Given the description of an element on the screen output the (x, y) to click on. 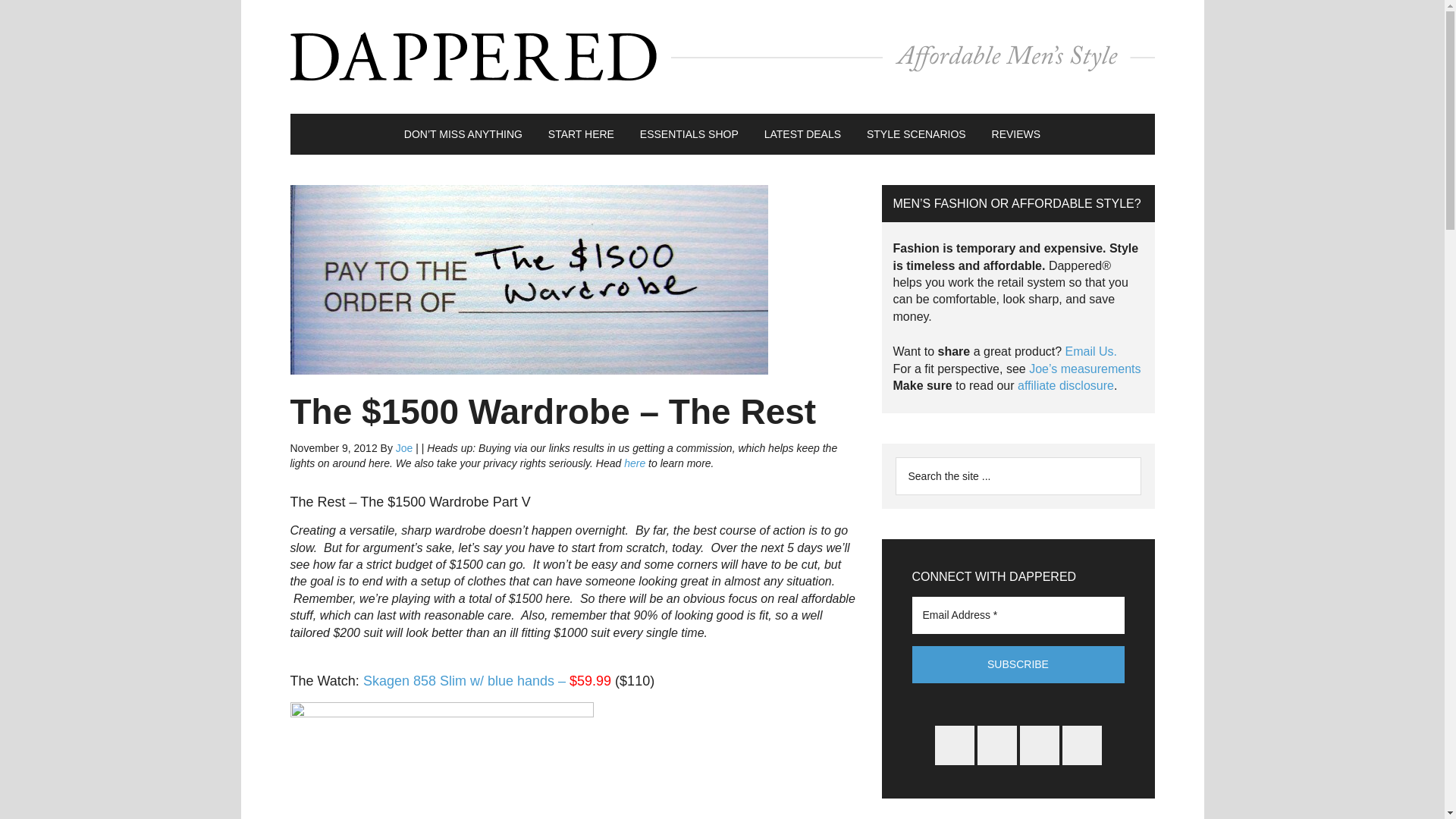
STYLE SCENARIOS (916, 133)
REVIEWS (1015, 133)
ESSENTIALS SHOP (688, 133)
Skagen Blue Hands (440, 760)
here (634, 463)
START HERE (581, 133)
LATEST DEALS (801, 133)
Subscribe (1017, 664)
Email Address (1017, 614)
Joe (404, 448)
Email Us. (1090, 350)
Dappered (721, 56)
Dappered Disclosures (1065, 385)
